Given the description of an element on the screen output the (x, y) to click on. 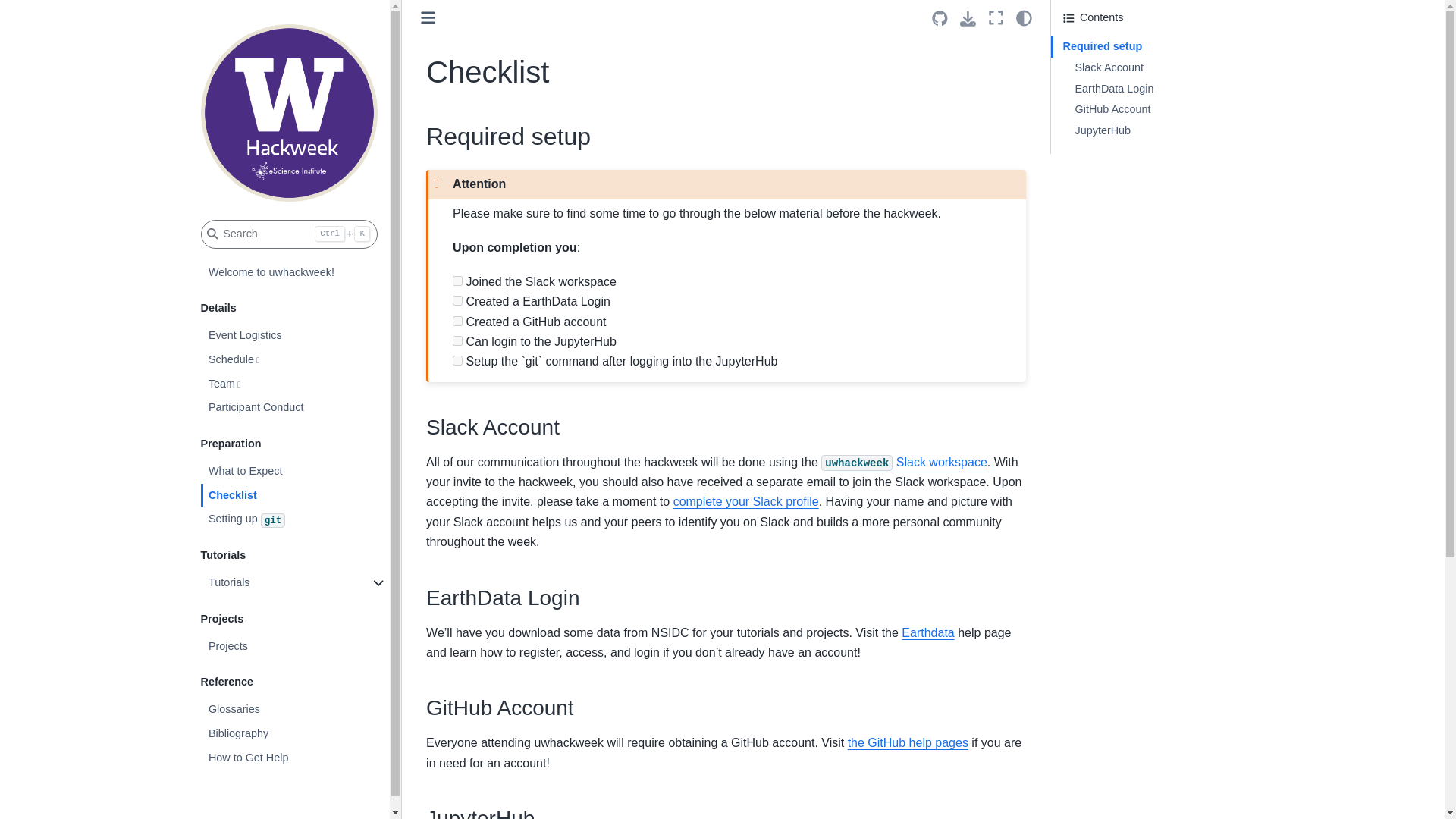
Projects (295, 646)
How to Get Help (295, 758)
Checklist (295, 495)
Bibliography (295, 733)
Schedule (295, 360)
Glossaries (295, 709)
What to Expect (295, 471)
on (457, 320)
Welcome to uwhackweek! (295, 273)
Tutorials (295, 582)
Participant Conduct (295, 407)
on (457, 300)
on (457, 360)
complete your Slack profile (745, 501)
Earthdata (927, 632)
